Given the description of an element on the screen output the (x, y) to click on. 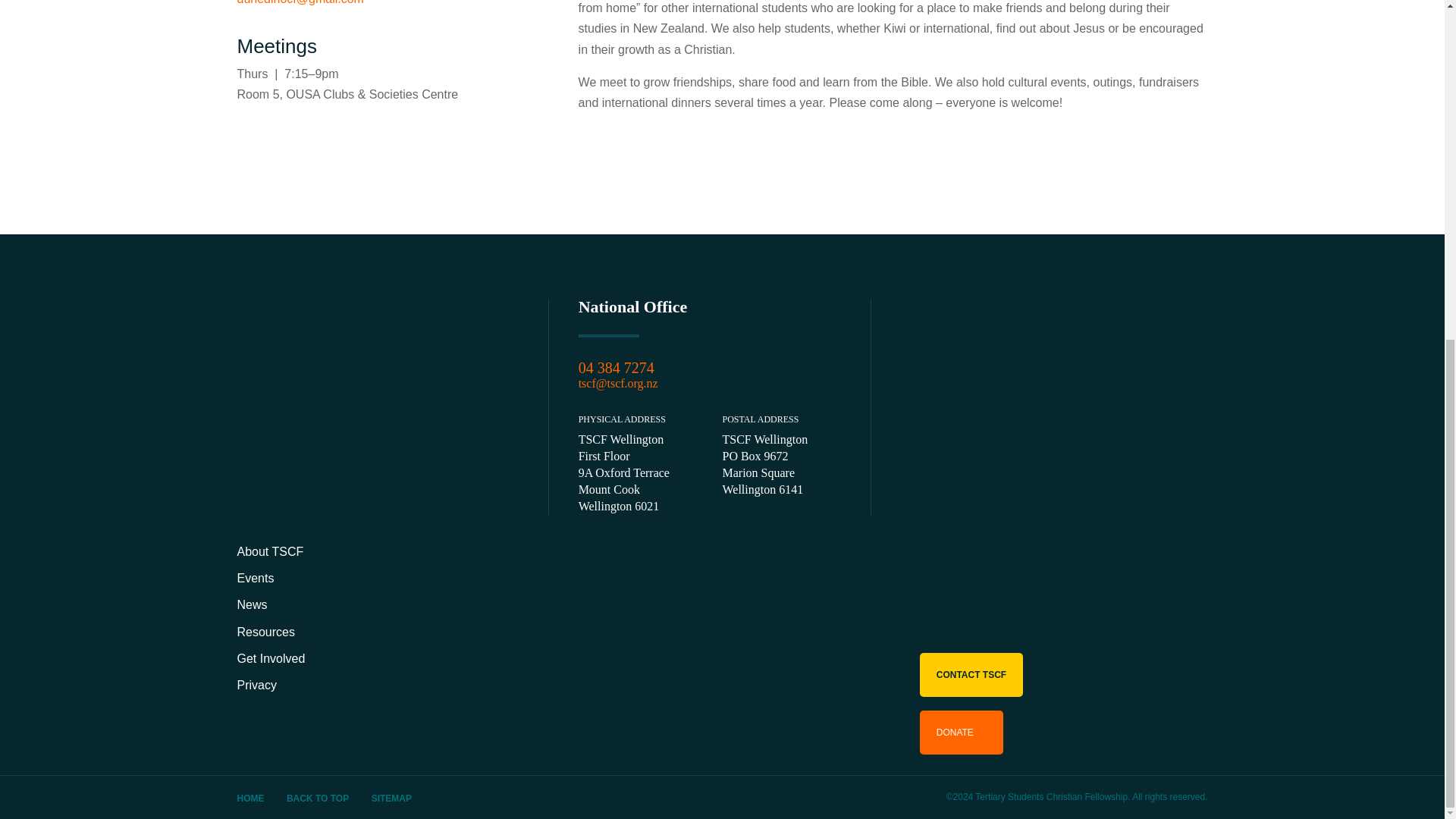
Email Dunedin Overseas Christian Fellowhip (298, 2)
Follow on Facebook (255, 143)
